Given the description of an element on the screen output the (x, y) to click on. 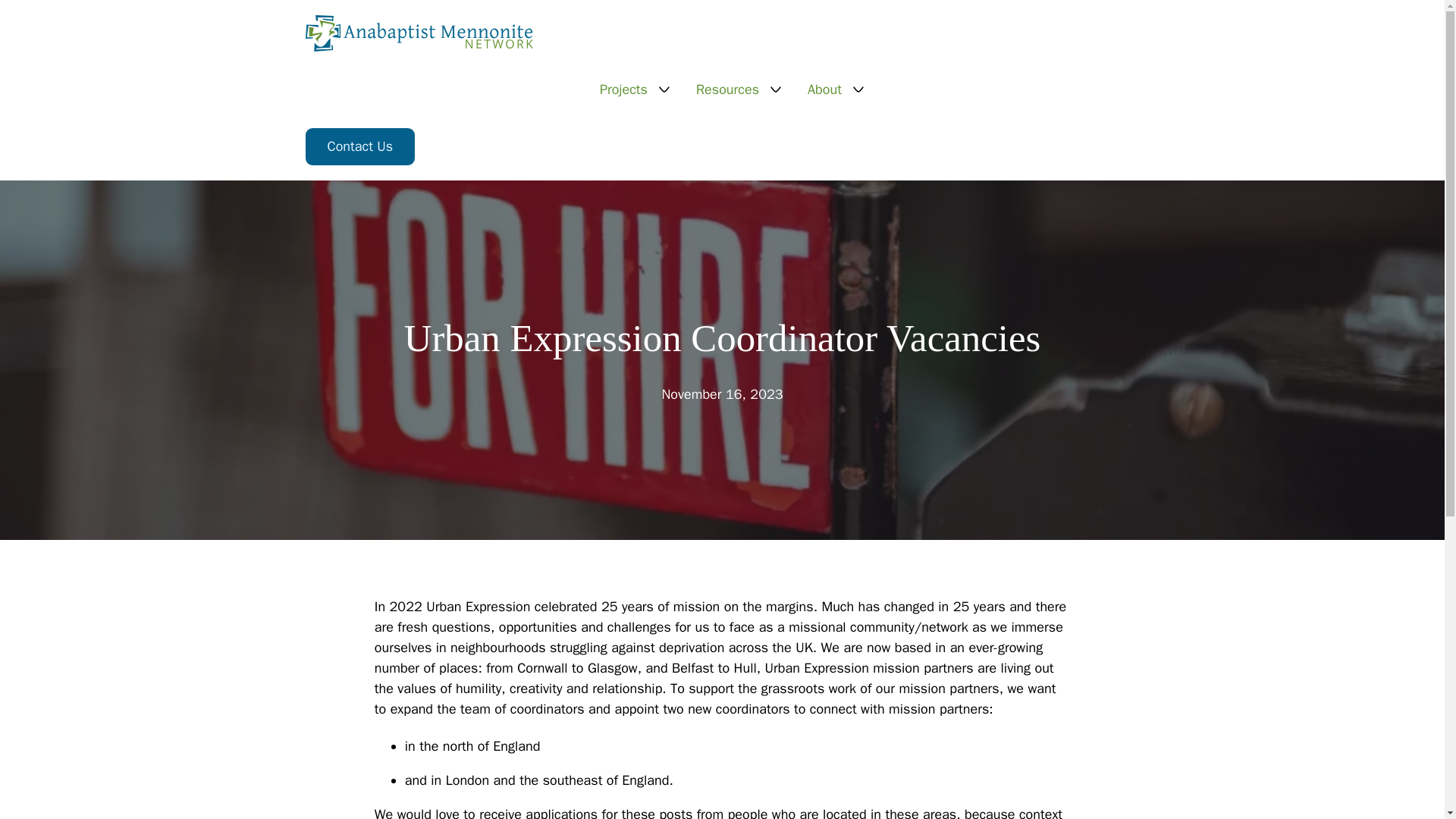
Projects (623, 89)
Resources (726, 89)
About (824, 89)
